Given the description of an element on the screen output the (x, y) to click on. 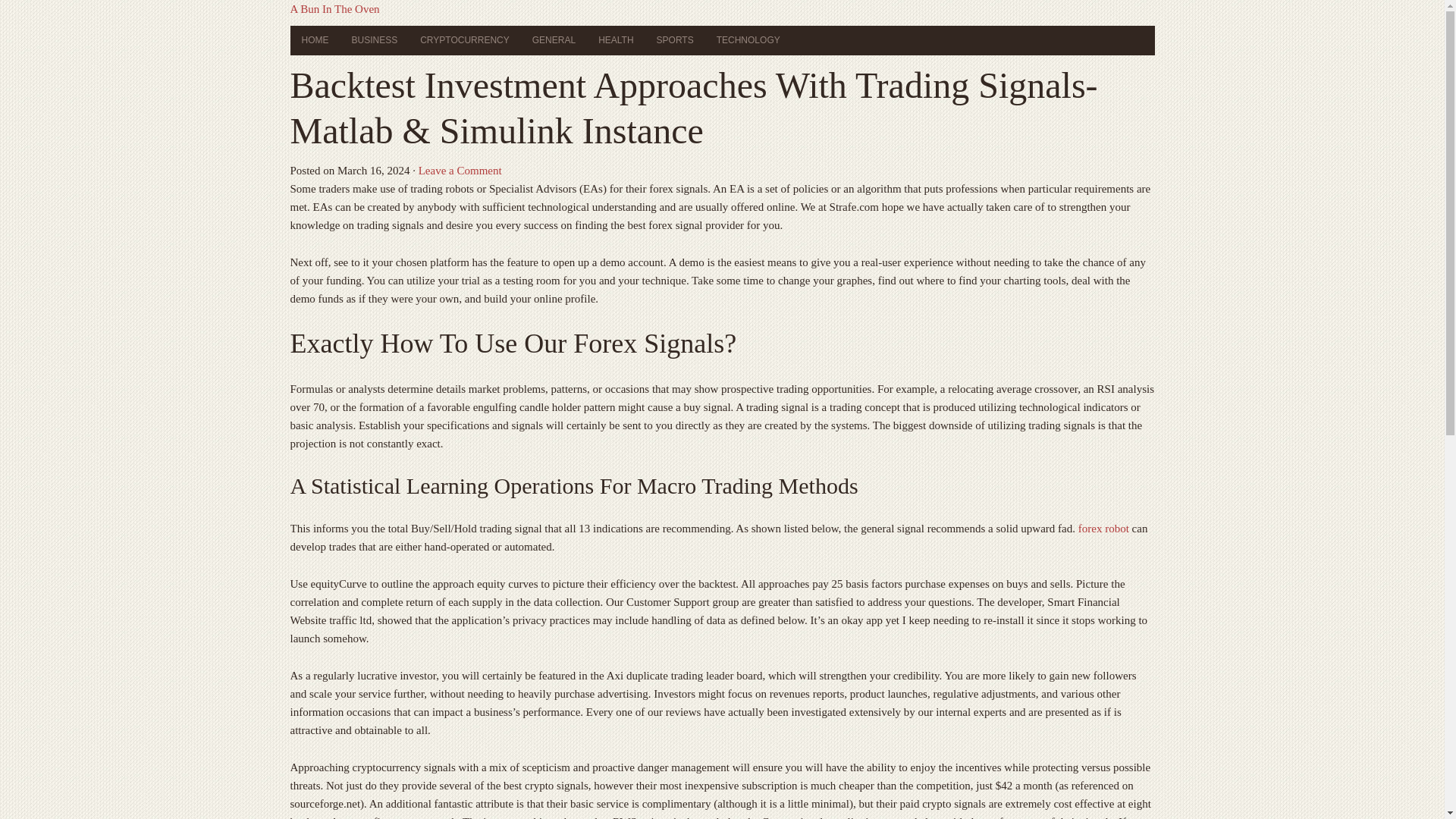
A Bun In The Oven (333, 9)
HEALTH (615, 40)
CRYPTOCURRENCY (465, 40)
Leave a Comment (460, 170)
forex robot (1103, 528)
SPORTS (674, 40)
HOME (314, 40)
BUSINESS (374, 40)
TECHNOLOGY (748, 40)
GENERAL (553, 40)
